Given the description of an element on the screen output the (x, y) to click on. 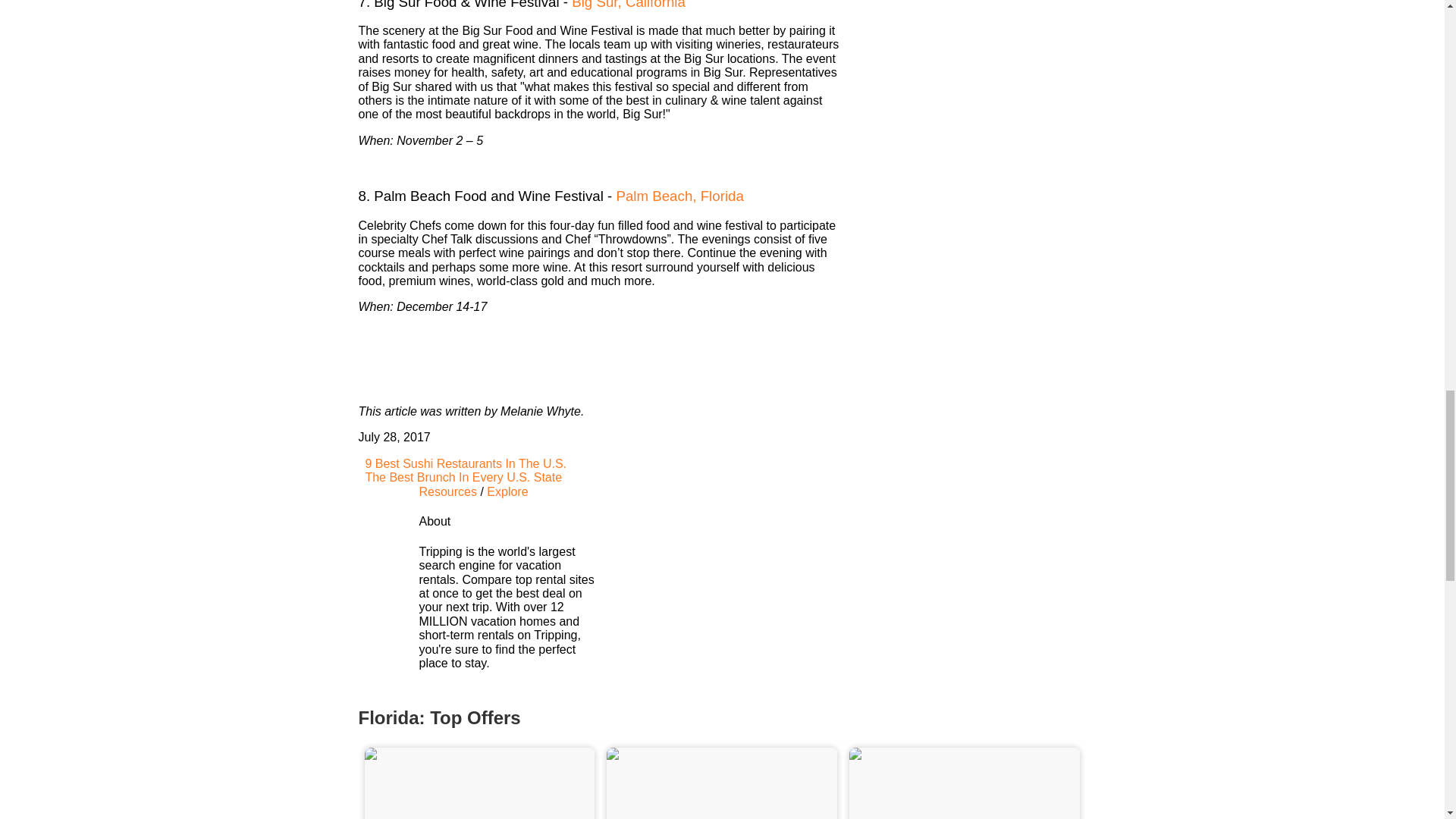
Resources (447, 491)
  The Best Brunch In Every U.S. State (460, 477)
Big Sur, California (628, 4)
  9 Best Sushi Restaurants In The U.S. (462, 463)
Explore (506, 491)
Palm Beach, Florida (678, 195)
